Given the description of an element on the screen output the (x, y) to click on. 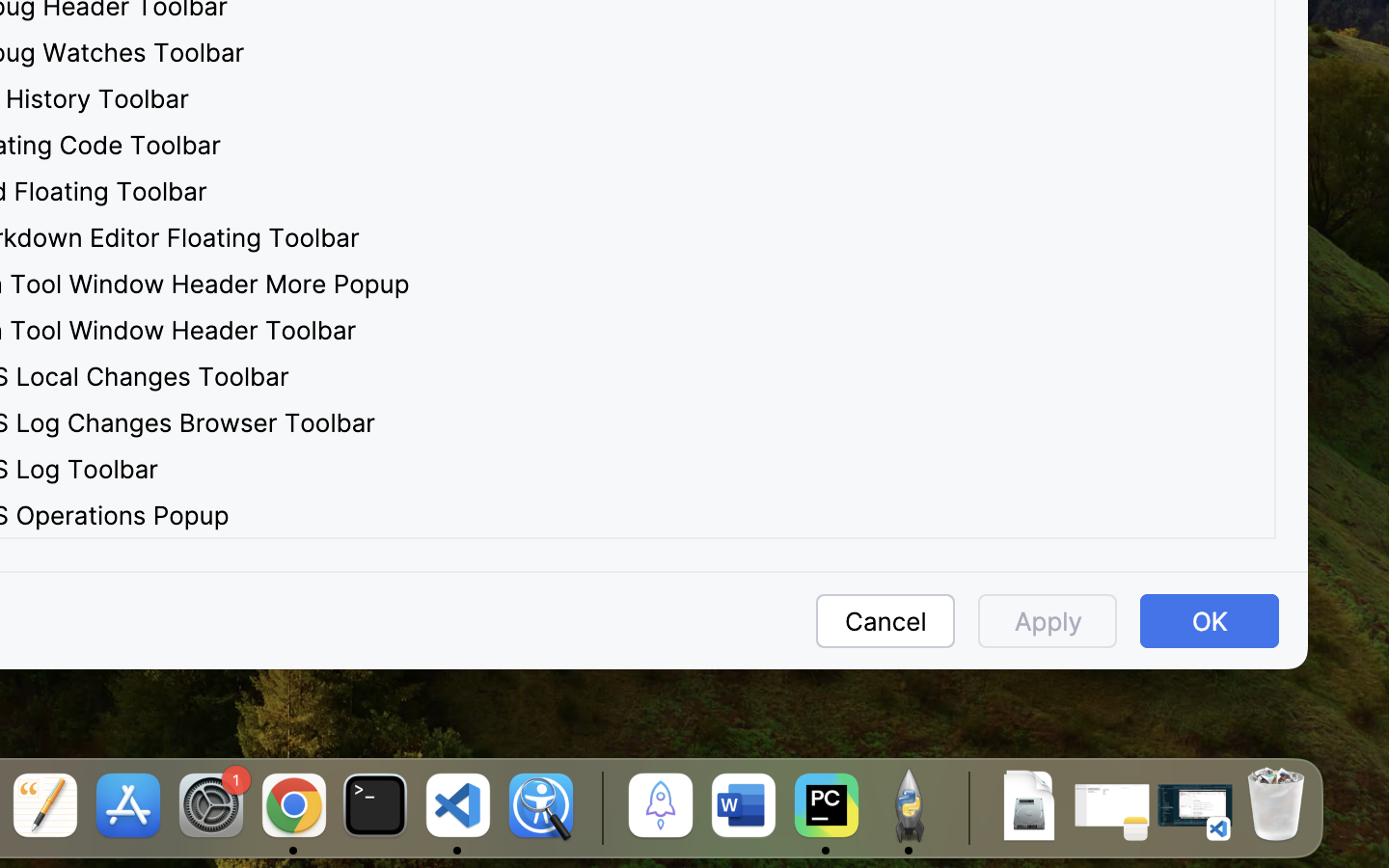
0.4285714328289032 Element type: AXDockItem (598, 807)
